Given the description of an element on the screen output the (x, y) to click on. 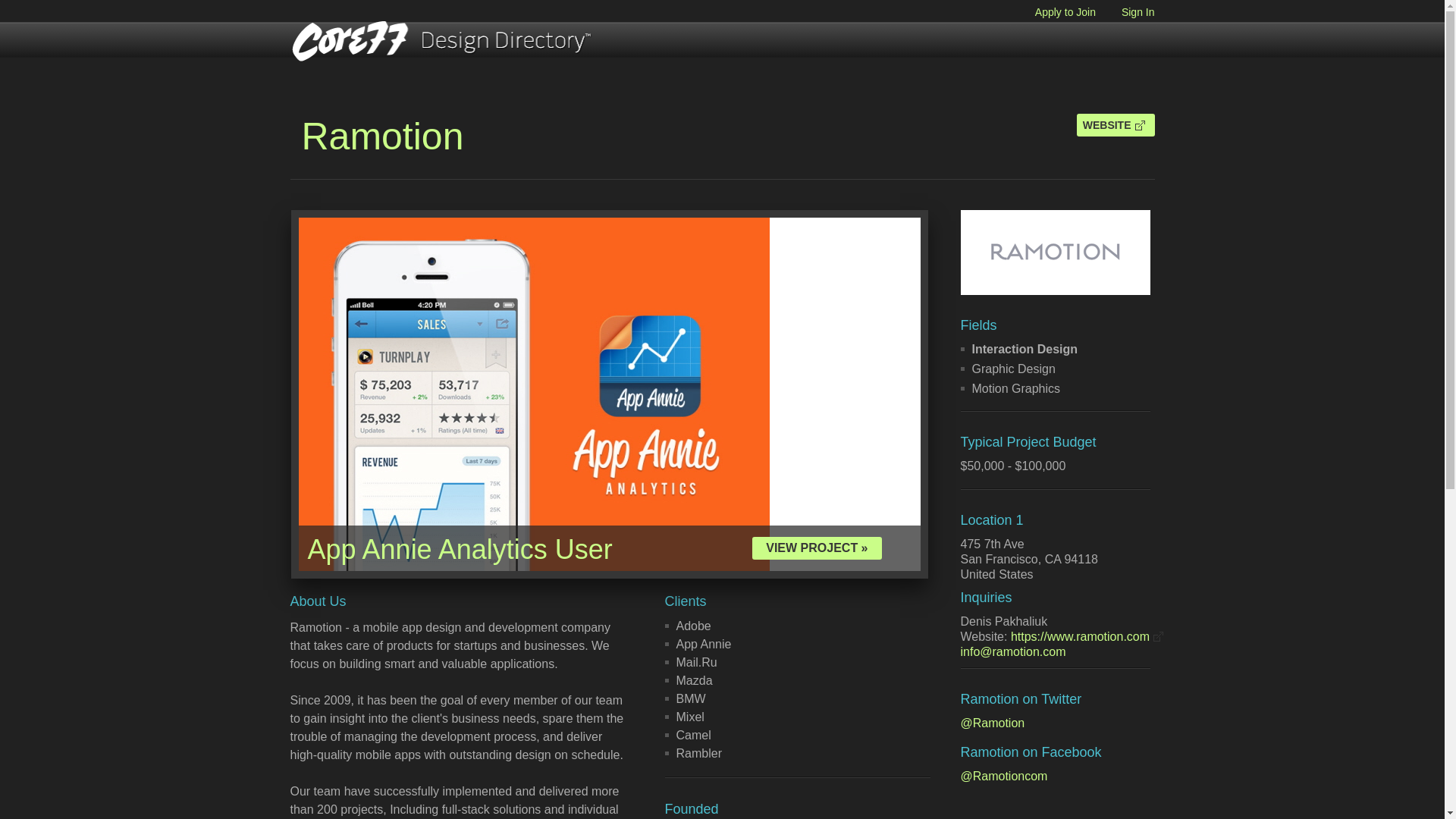
Ramotion (382, 136)
Apply to Join (1053, 11)
Sign In (1126, 11)
WEBSITE (1115, 124)
